Given the description of an element on the screen output the (x, y) to click on. 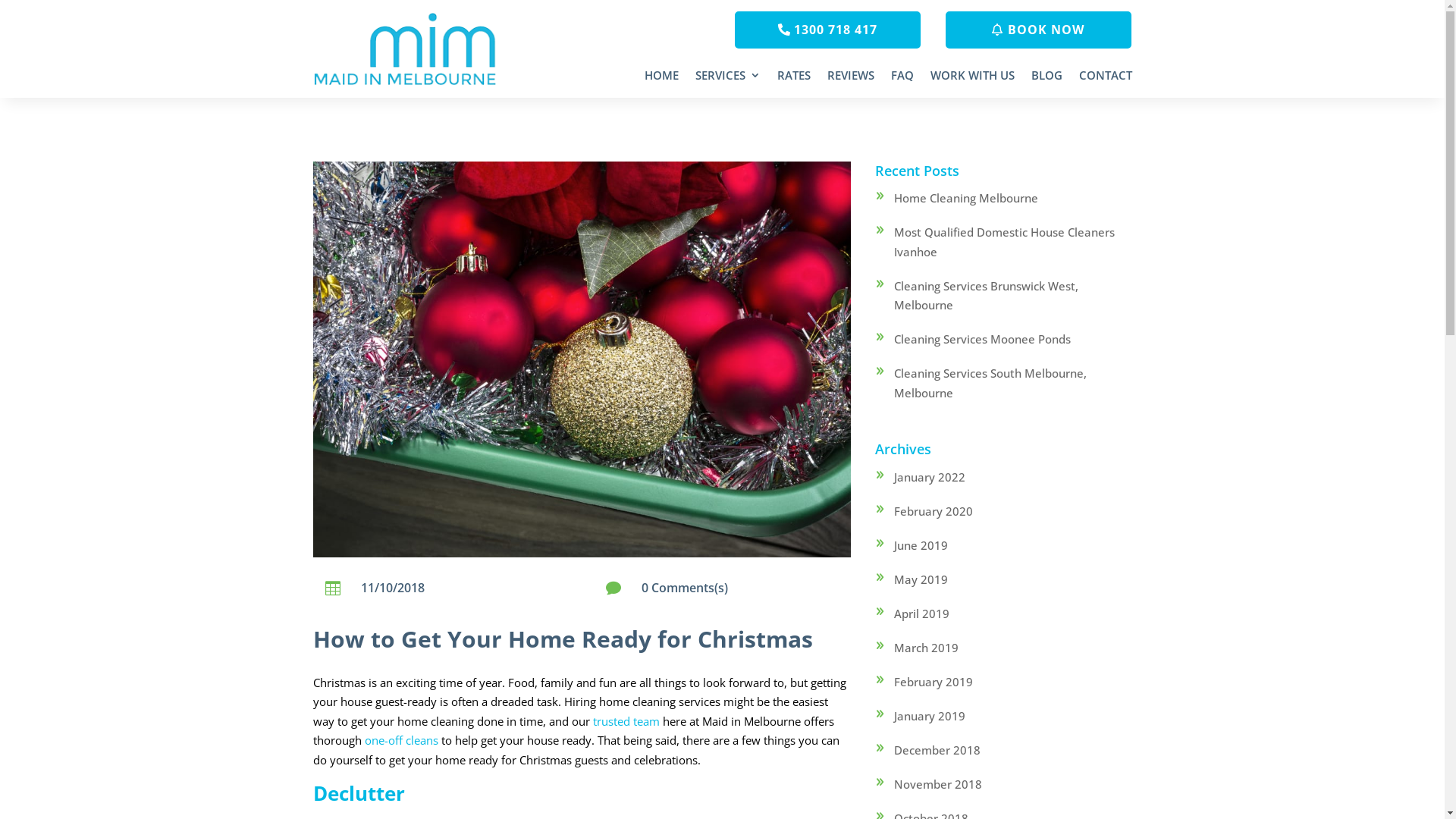
November 2018 Element type: text (938, 783)
BOOK NOW Element type: text (1038, 29)
Cleaning Services Moonee Ponds Element type: text (982, 338)
May 2019 Element type: text (920, 578)
CONTACT Element type: text (1104, 77)
REVIEWS Element type: text (849, 77)
February 2019 Element type: text (933, 681)
WORK WITH US Element type: text (971, 77)
SERVICES Element type: text (726, 77)
logo-1 Element type: hover (406, 49)
Most Qualified Domestic House Cleaners Ivanhoe Element type: text (1004, 241)
1300 718 417 Element type: text (827, 29)
BLOG Element type: text (1046, 77)
June 2019 Element type: text (920, 544)
FAQ Element type: text (901, 77)
trusted team Element type: text (626, 720)
Home Cleaning Melbourne Element type: text (966, 197)
one-off cleans Element type: text (400, 739)
Cleaning Services Brunswick West, Melbourne Element type: text (986, 295)
Order-4107-_-Image-3 Element type: hover (581, 359)
RATES Element type: text (792, 77)
Cleaning Services South Melbourne, Melbourne Element type: text (990, 382)
January 2022 Element type: text (929, 476)
December 2018 Element type: text (937, 749)
March 2019 Element type: text (926, 647)
April 2019 Element type: text (921, 613)
HOME Element type: text (661, 77)
February 2020 Element type: text (933, 510)
January 2019 Element type: text (929, 715)
0 Comments(s) Element type: text (684, 587)
